Given the description of an element on the screen output the (x, y) to click on. 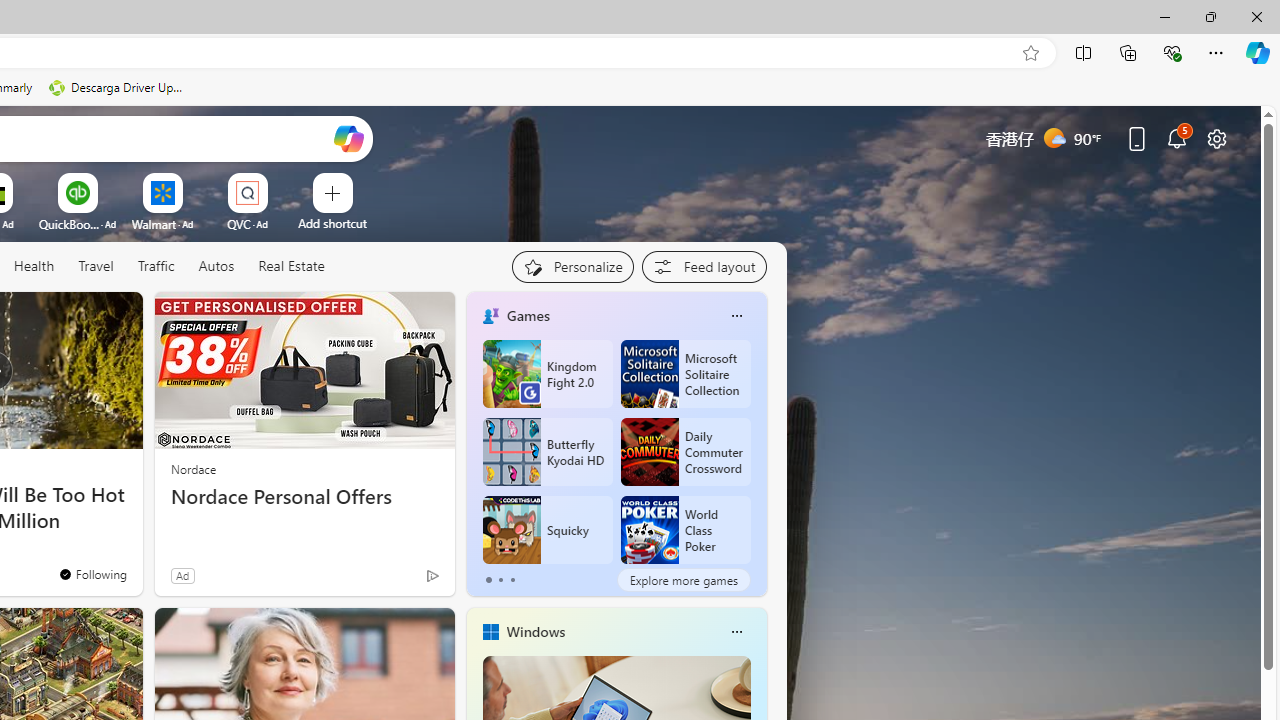
Restore (1210, 16)
tab-2 (511, 579)
Minimize (1164, 16)
Real Estate (291, 265)
Add a site (332, 223)
Games (527, 315)
Split screen (1083, 52)
Collections (1128, 52)
previous (476, 443)
Page settings (1216, 138)
Explore more games (683, 579)
Close (1256, 16)
You're following Newsweek (92, 573)
Open Copilot (347, 138)
